Given the description of an element on the screen output the (x, y) to click on. 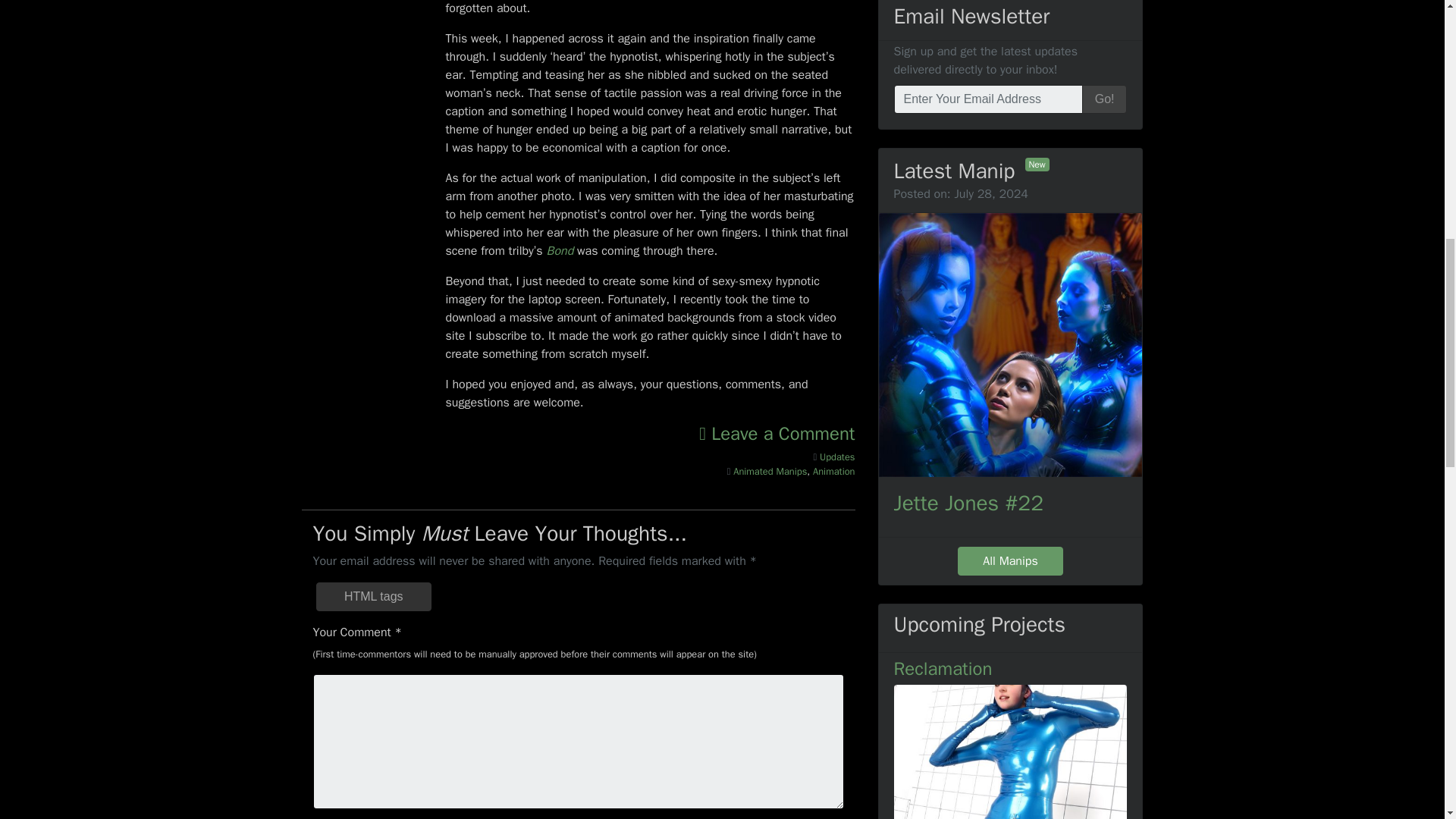
Bond (559, 250)
Updates (837, 457)
Animation (833, 471)
Leave a Comment (776, 433)
Animated Manips (769, 471)
